Given the description of an element on the screen output the (x, y) to click on. 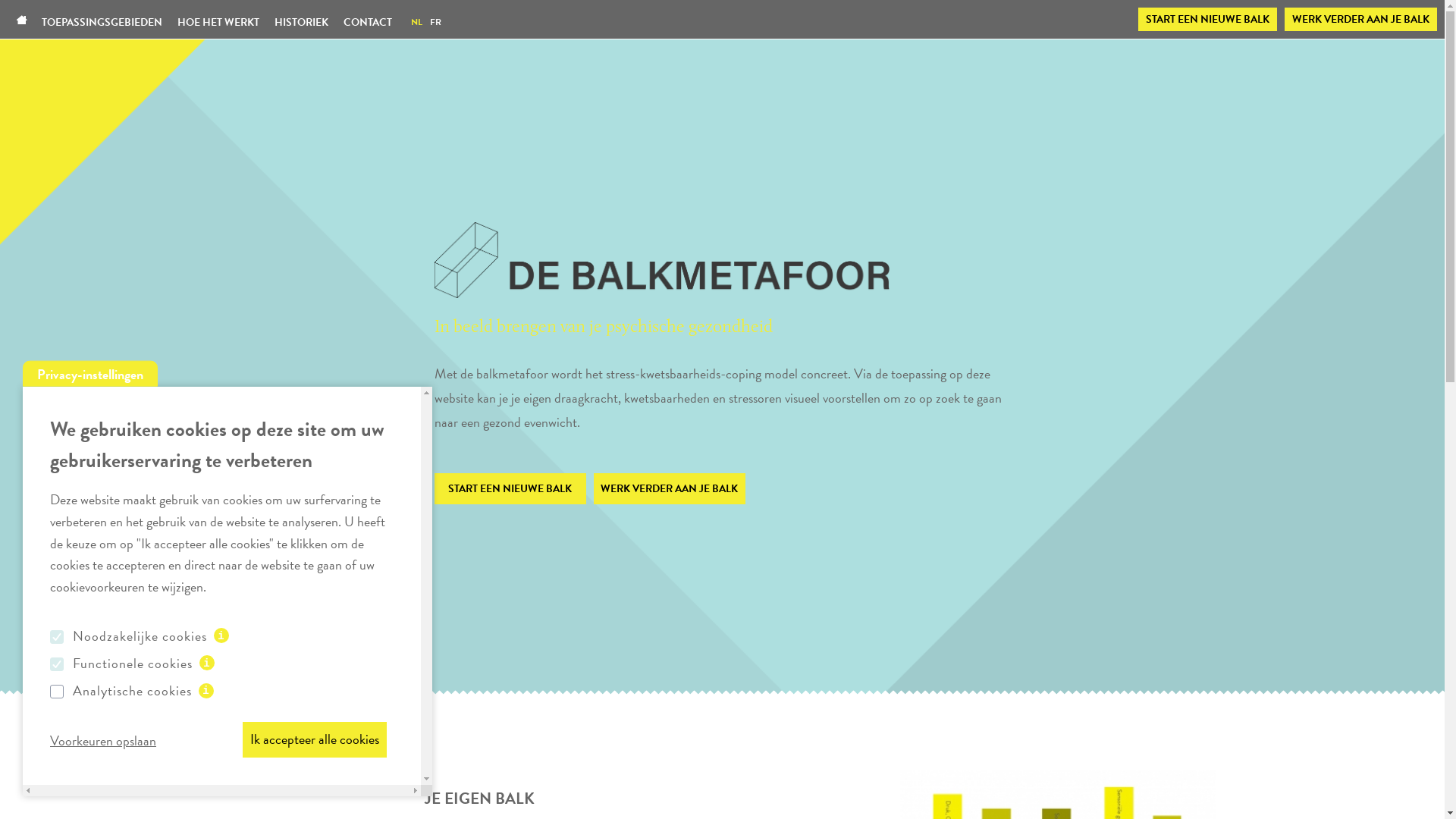
Ik accepteer alle cookies Element type: text (314, 739)
Voorkeuren opslaan Element type: text (109, 739)
NL Element type: text (416, 21)
HISTORIEK Element type: text (300, 22)
Privacy-instellingen Element type: text (89, 373)
WERK VERDER AAN JE BALK Element type: text (668, 488)
START EEN NIEUWE BALK Element type: text (509, 488)
HOE HET WERKT Element type: text (217, 22)
START EEN NIEUWE BALK Element type: text (1207, 19)
CONTACT Element type: text (367, 22)
Toestemming intrekken Element type: text (119, 738)
TOEPASSINGSGEBIEDEN Element type: text (105, 22)
WERK VERDER AAN JE BALK Element type: text (1360, 19)
FR Element type: text (435, 21)
